Given the description of an element on the screen output the (x, y) to click on. 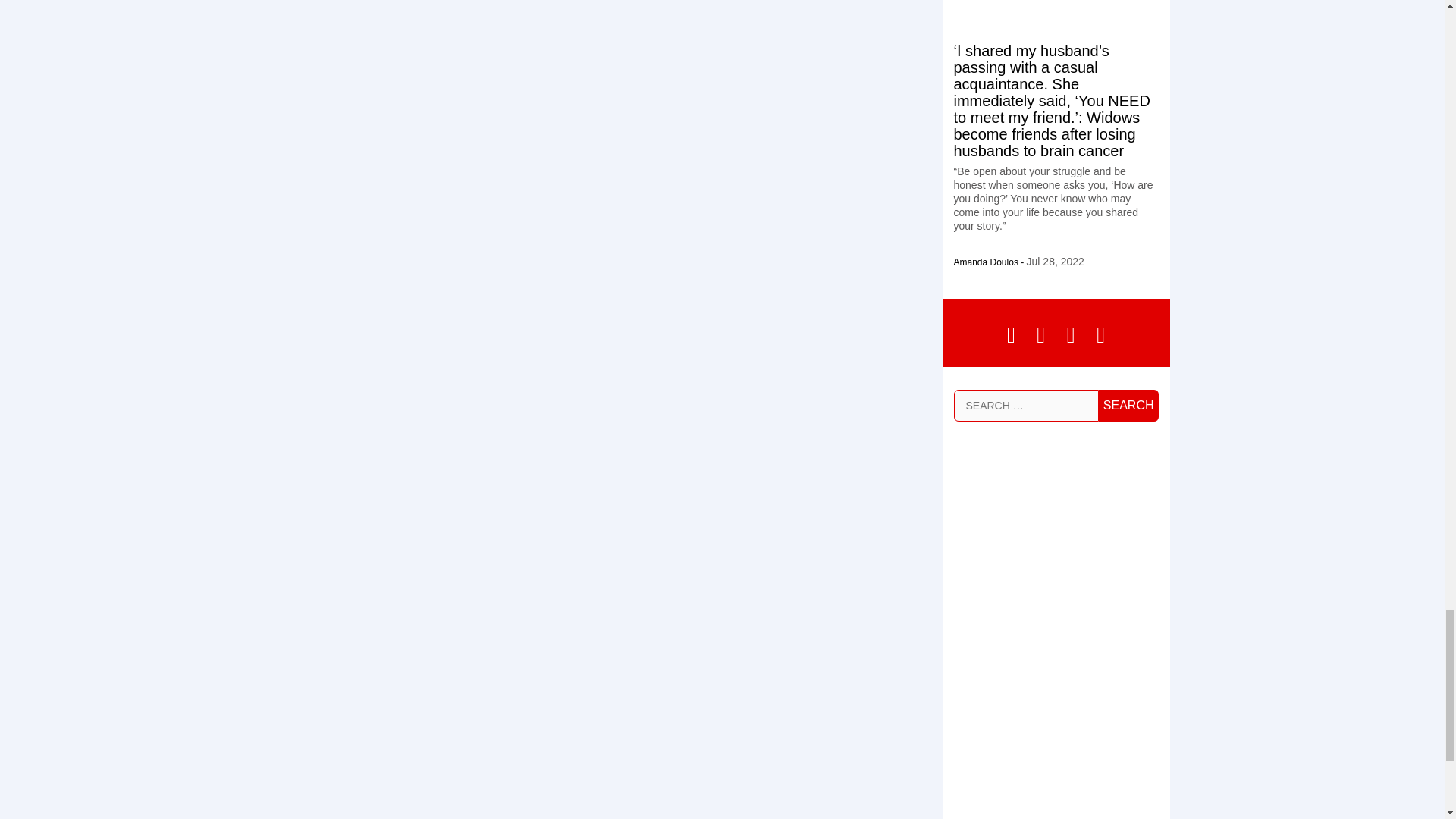
Search (1128, 405)
July 28, 2022 (1055, 261)
Search (1128, 405)
